Given the description of an element on the screen output the (x, y) to click on. 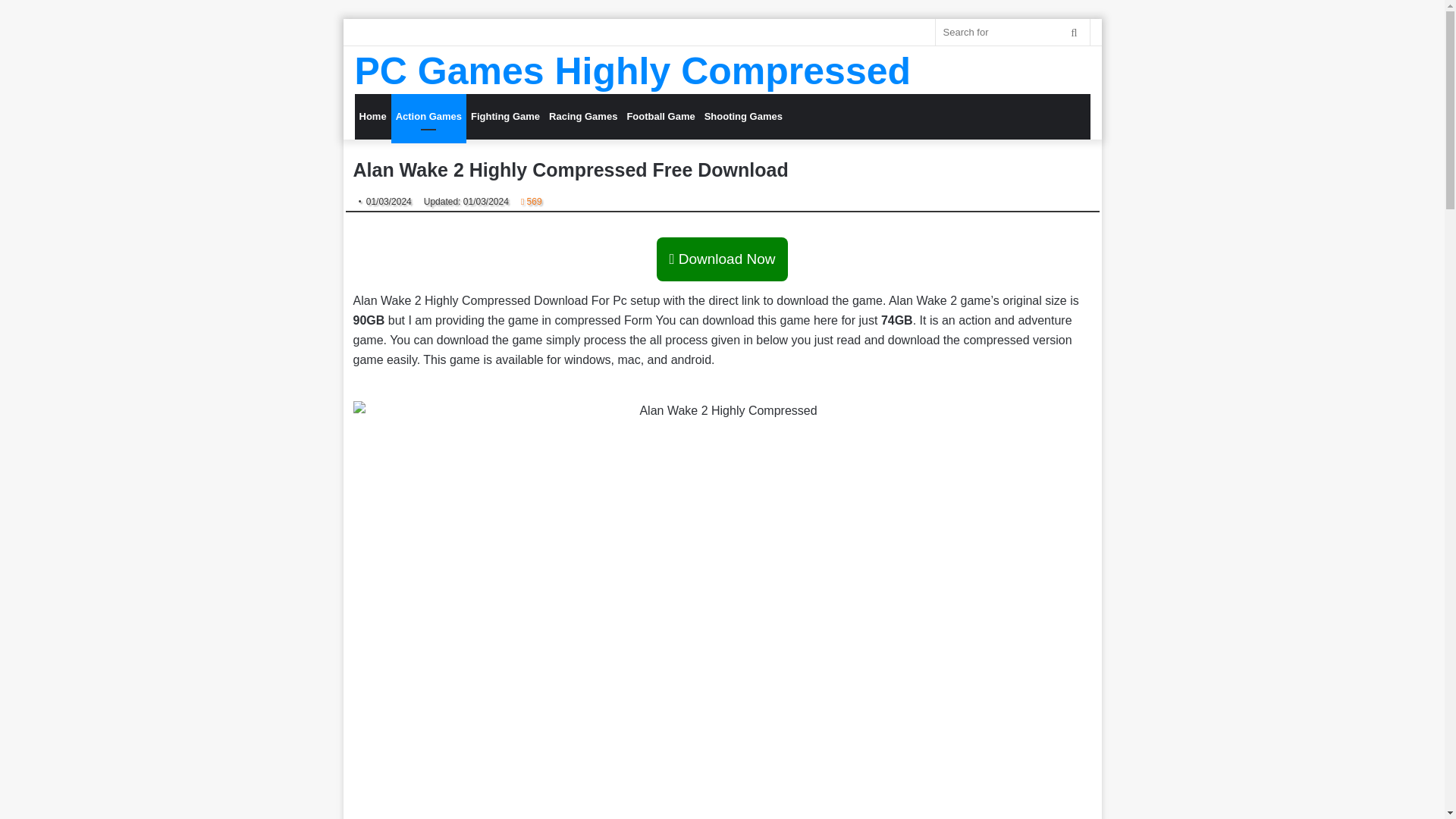
Fighting Game (504, 116)
Football Game (659, 116)
PC Games Highly Compressed (633, 71)
Home (373, 116)
Search for (1012, 31)
Download Now (721, 259)
PC Games Highly Compressed (633, 71)
Action Games (428, 116)
Shooting Games (743, 116)
Download Now (721, 259)
Search for (1073, 31)
Racing Games (582, 116)
